Given the description of an element on the screen output the (x, y) to click on. 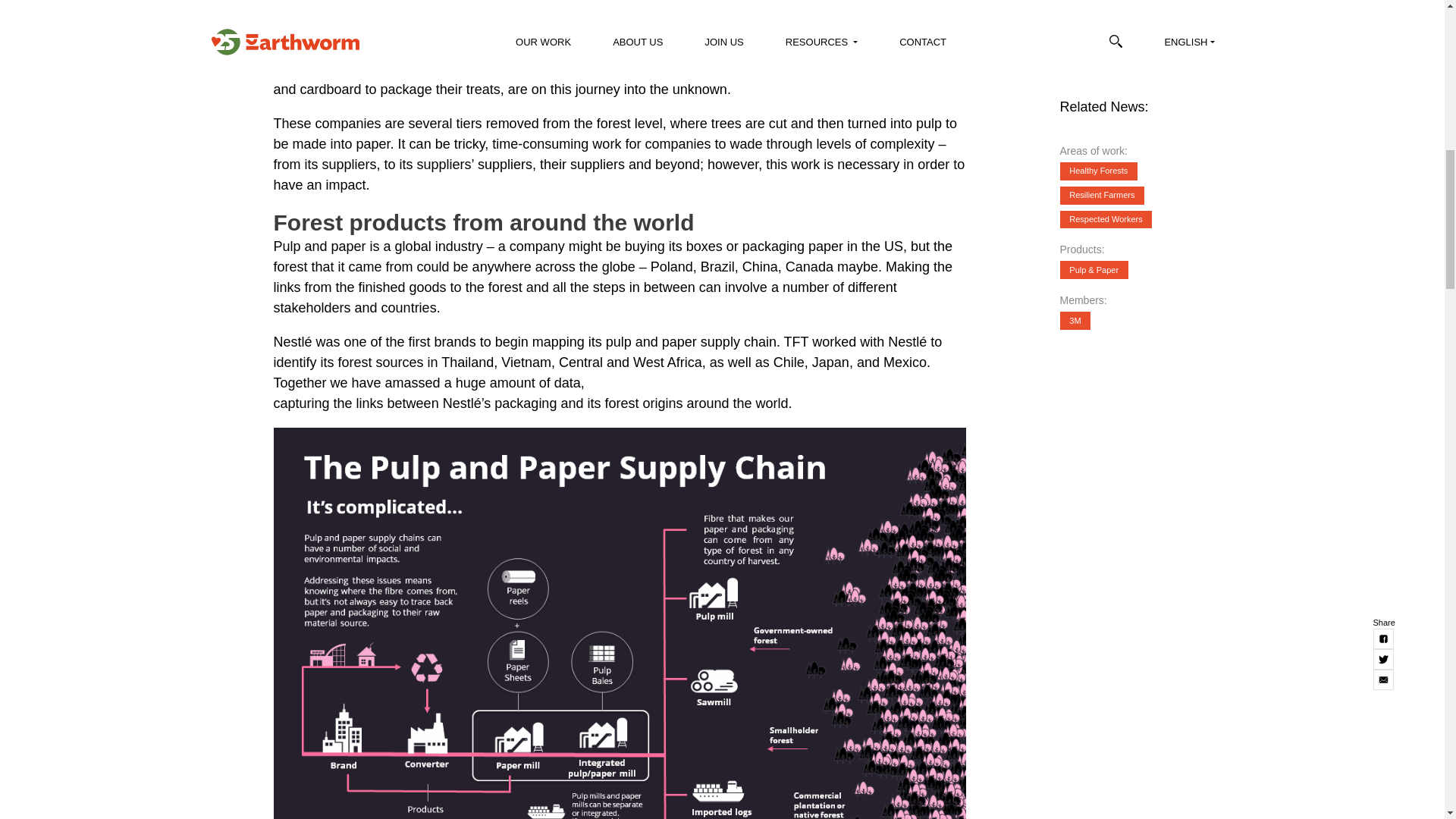
Resilient Farmers (1101, 6)
3M (1074, 129)
Respected Workers (1106, 28)
